Given the description of an element on the screen output the (x, y) to click on. 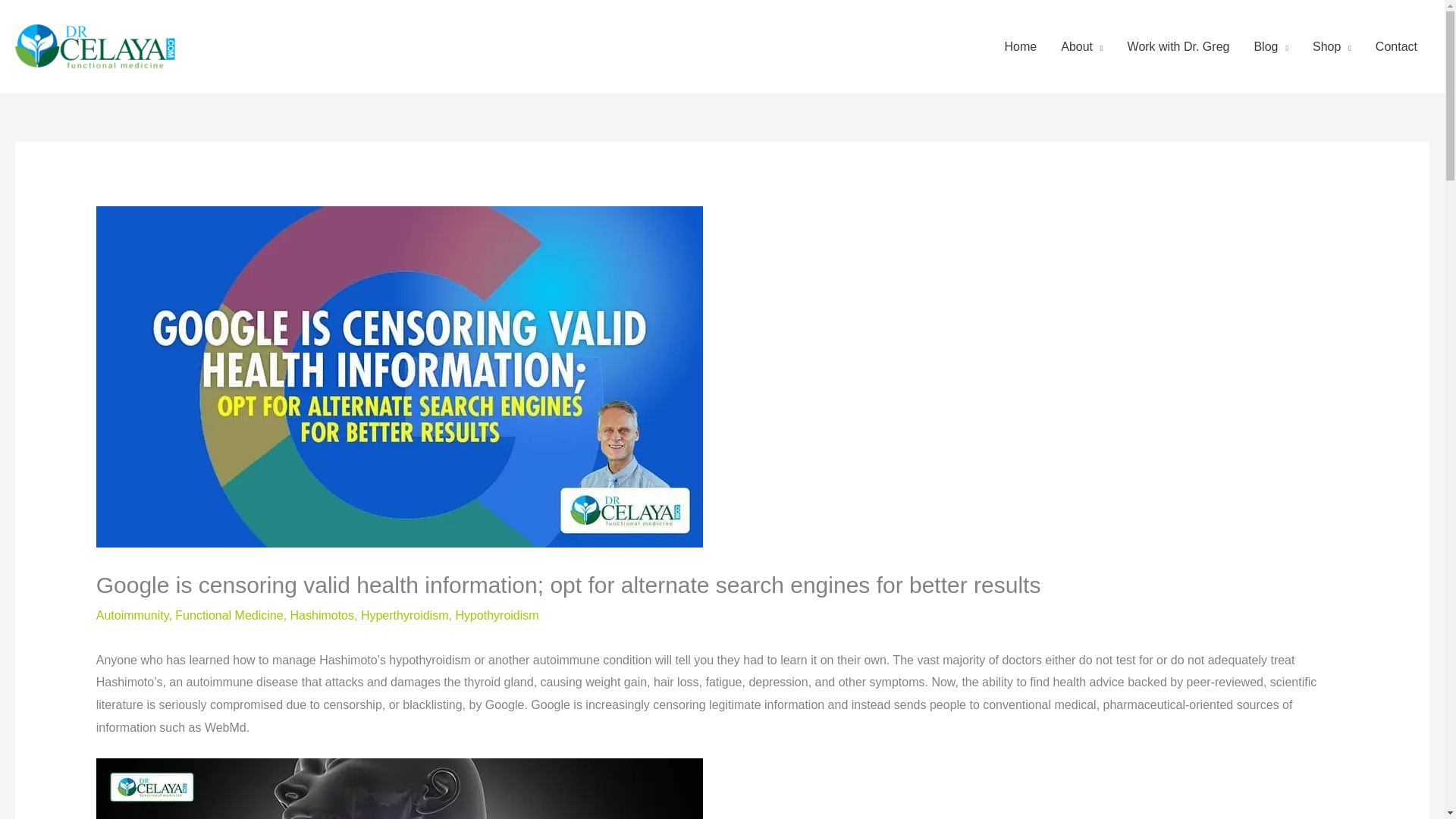
Blog (1270, 46)
About (1081, 46)
Home (1020, 46)
Work with Dr. Greg (1178, 46)
